Given the description of an element on the screen output the (x, y) to click on. 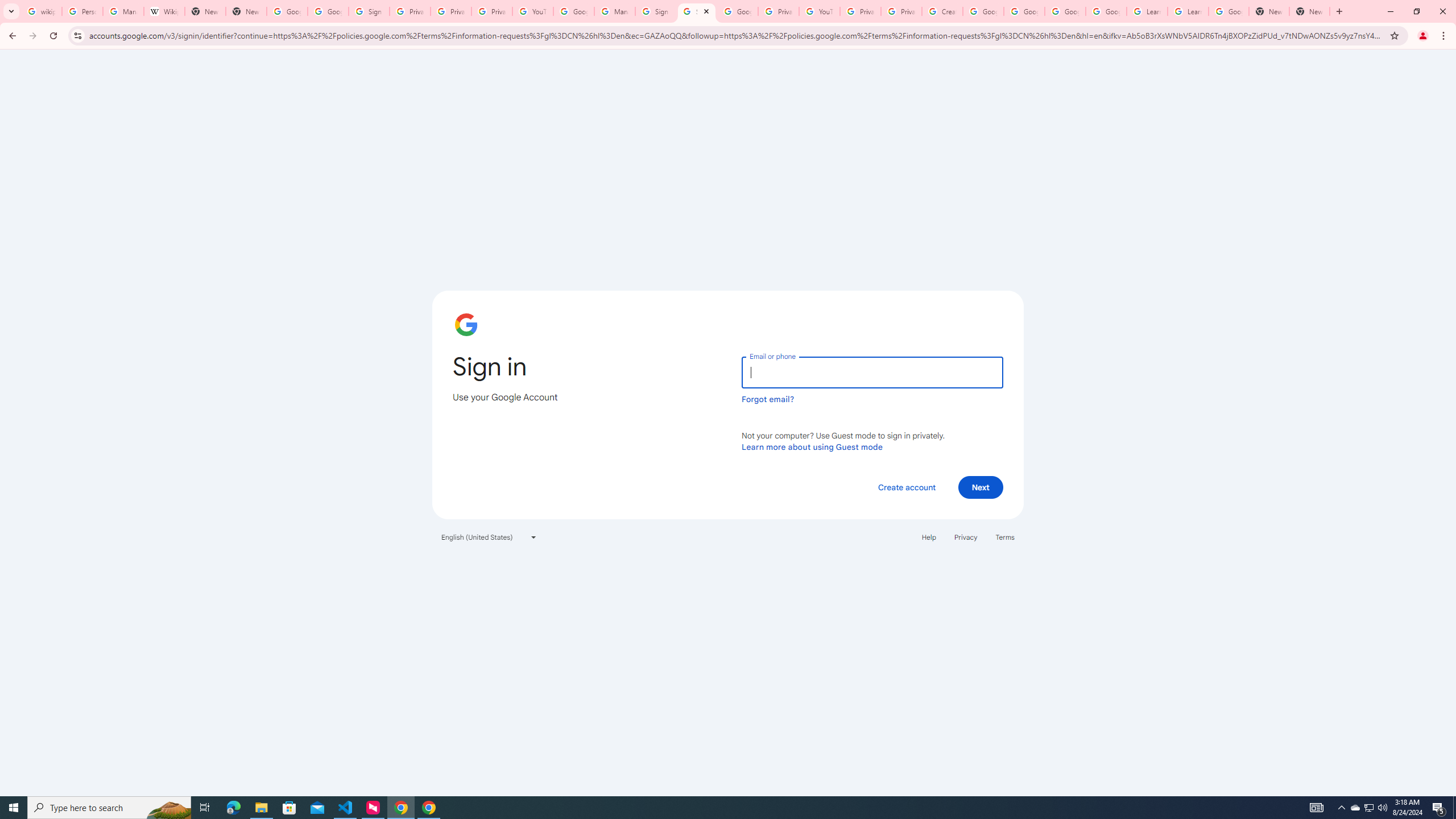
Create your Google Account (942, 11)
Wikipedia:Edit requests - Wikipedia (163, 11)
YouTube (818, 11)
New Tab (246, 11)
Create account (905, 486)
Forgot email? (767, 398)
Manage your Location History - Google Search Help (122, 11)
